Given the description of an element on the screen output the (x, y) to click on. 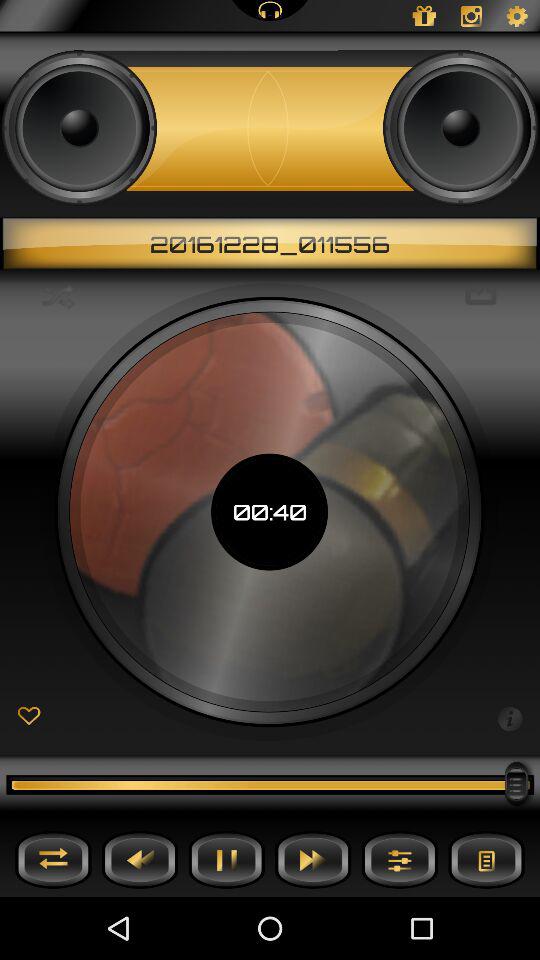
launch the icon next to 00:40 (480, 296)
